Given the description of an element on the screen output the (x, y) to click on. 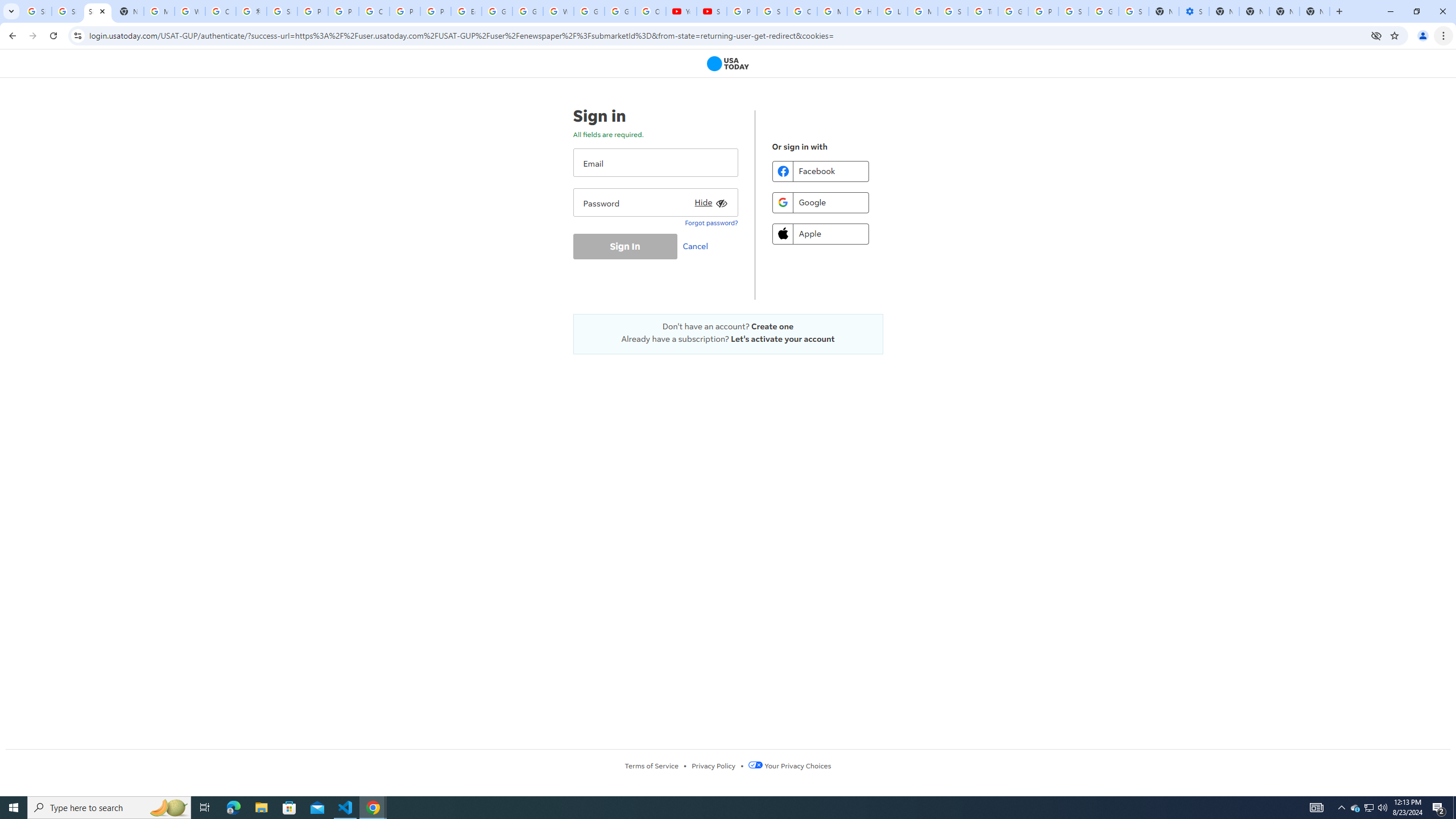
 Your Privacy Choices (789, 765)
Sign in - Google Accounts (771, 11)
Facebook (820, 170)
Chrome (1445, 35)
Sign in - Google Accounts (1133, 11)
Google Slides: Sign-in (496, 11)
Cancel (697, 245)
Bookmark this tab (1393, 35)
Forgot password? (711, 221)
